Given the description of an element on the screen output the (x, y) to click on. 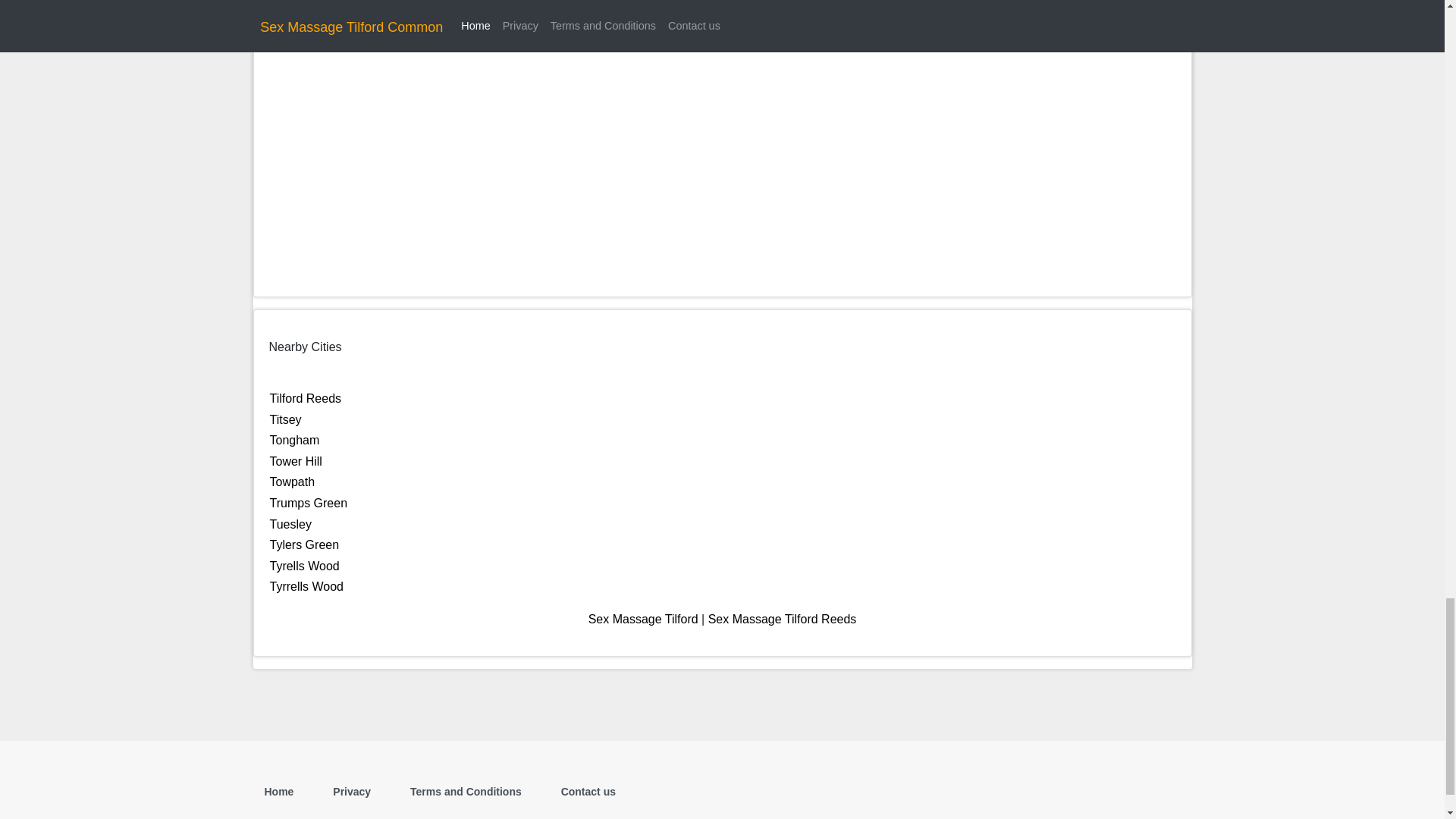
Sex Massage Tilford (643, 618)
Tyrells Wood (304, 565)
Sex Massage Tilford Reeds (782, 618)
Trumps Green (308, 502)
Tongham (294, 440)
Tyrrells Wood (306, 585)
Towpath (292, 481)
Tuesley (290, 523)
Tower Hill (295, 461)
Tylers Green (304, 544)
